Given the description of an element on the screen output the (x, y) to click on. 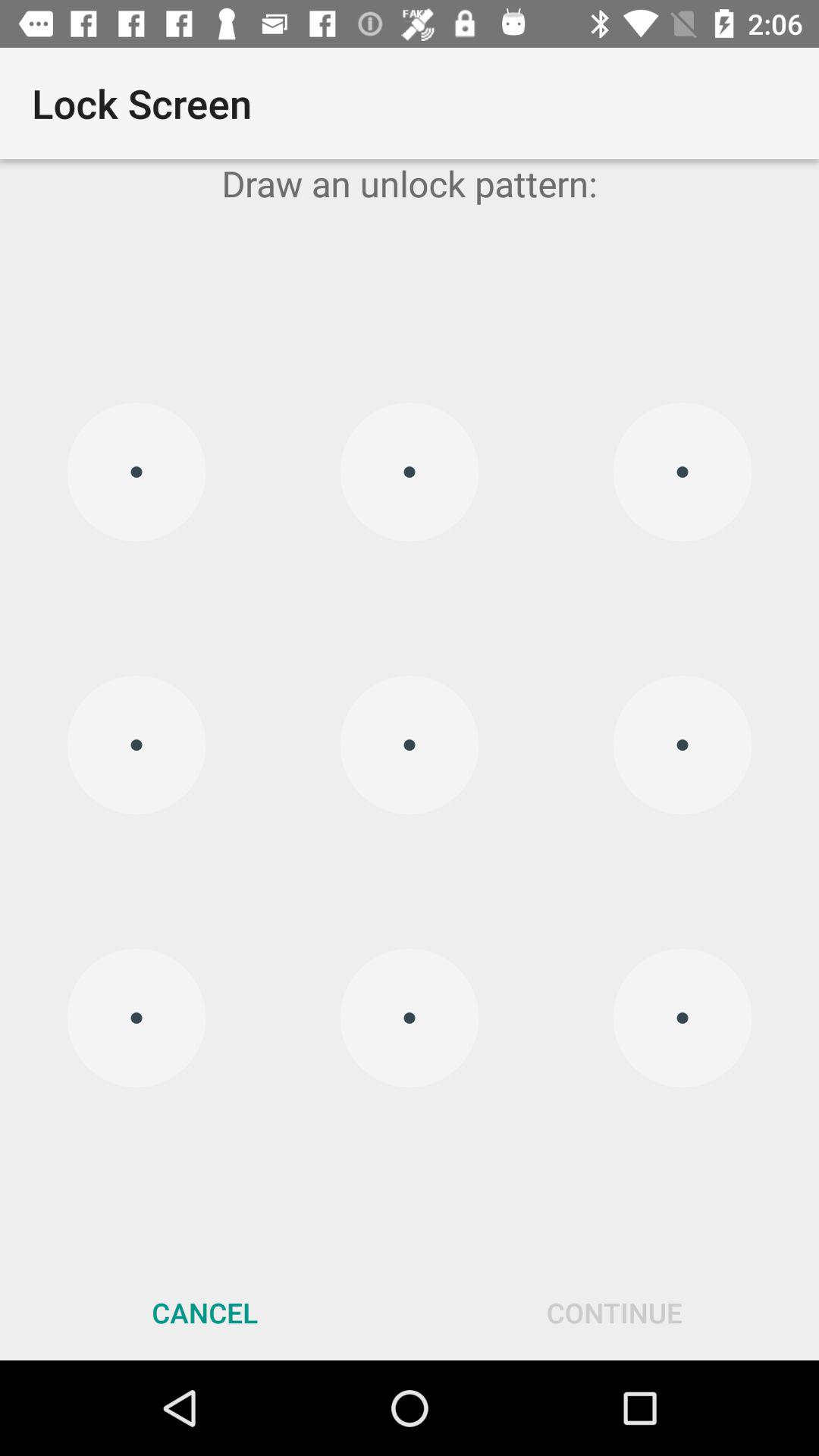
choose continue item (614, 1312)
